Given the description of an element on the screen output the (x, y) to click on. 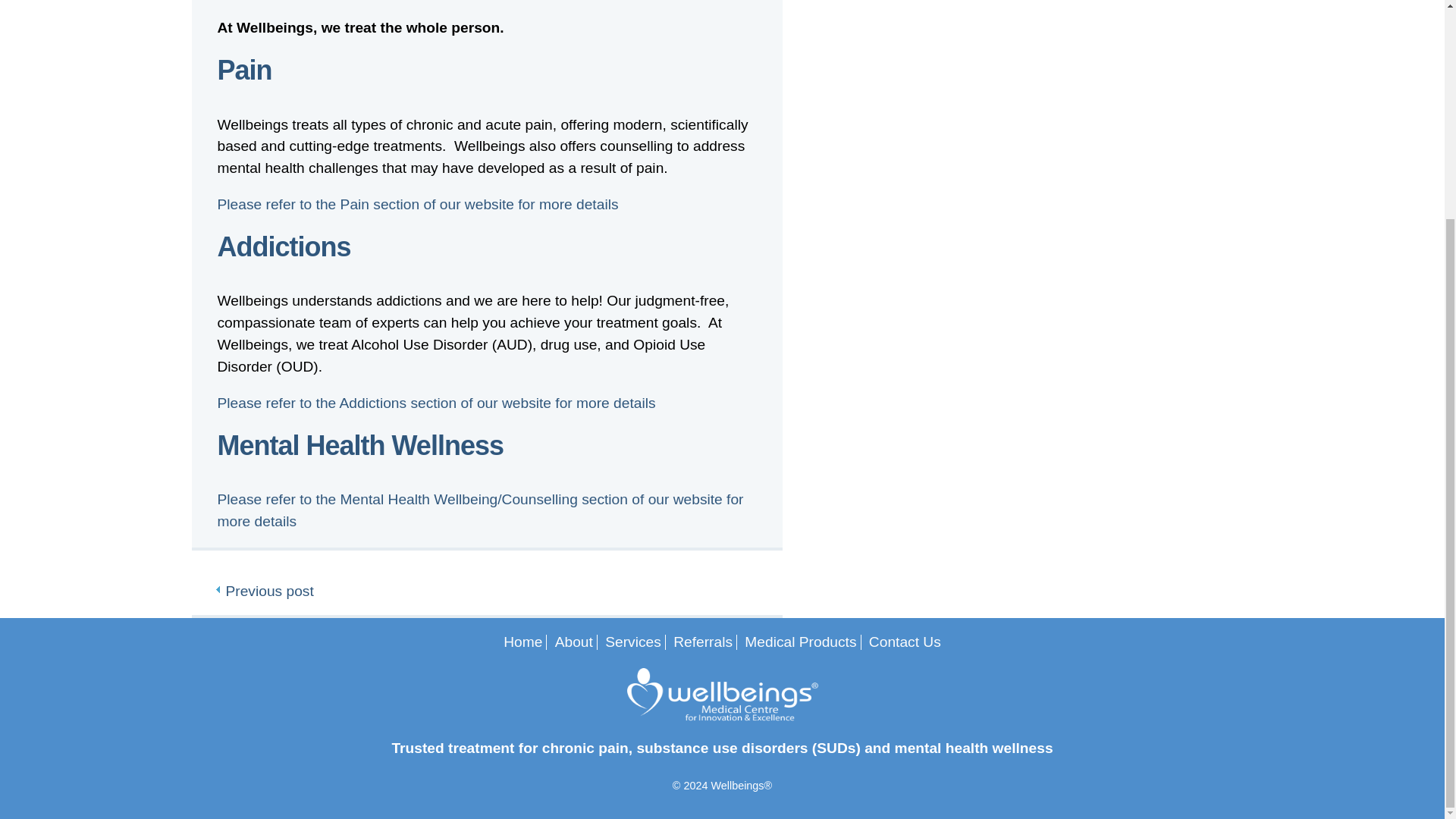
About (573, 641)
Mental Health Wellness (359, 445)
Contact Us (904, 641)
Previous post (264, 590)
Services (633, 641)
Pain (243, 69)
Referrals (702, 641)
Home (522, 641)
